Given the description of an element on the screen output the (x, y) to click on. 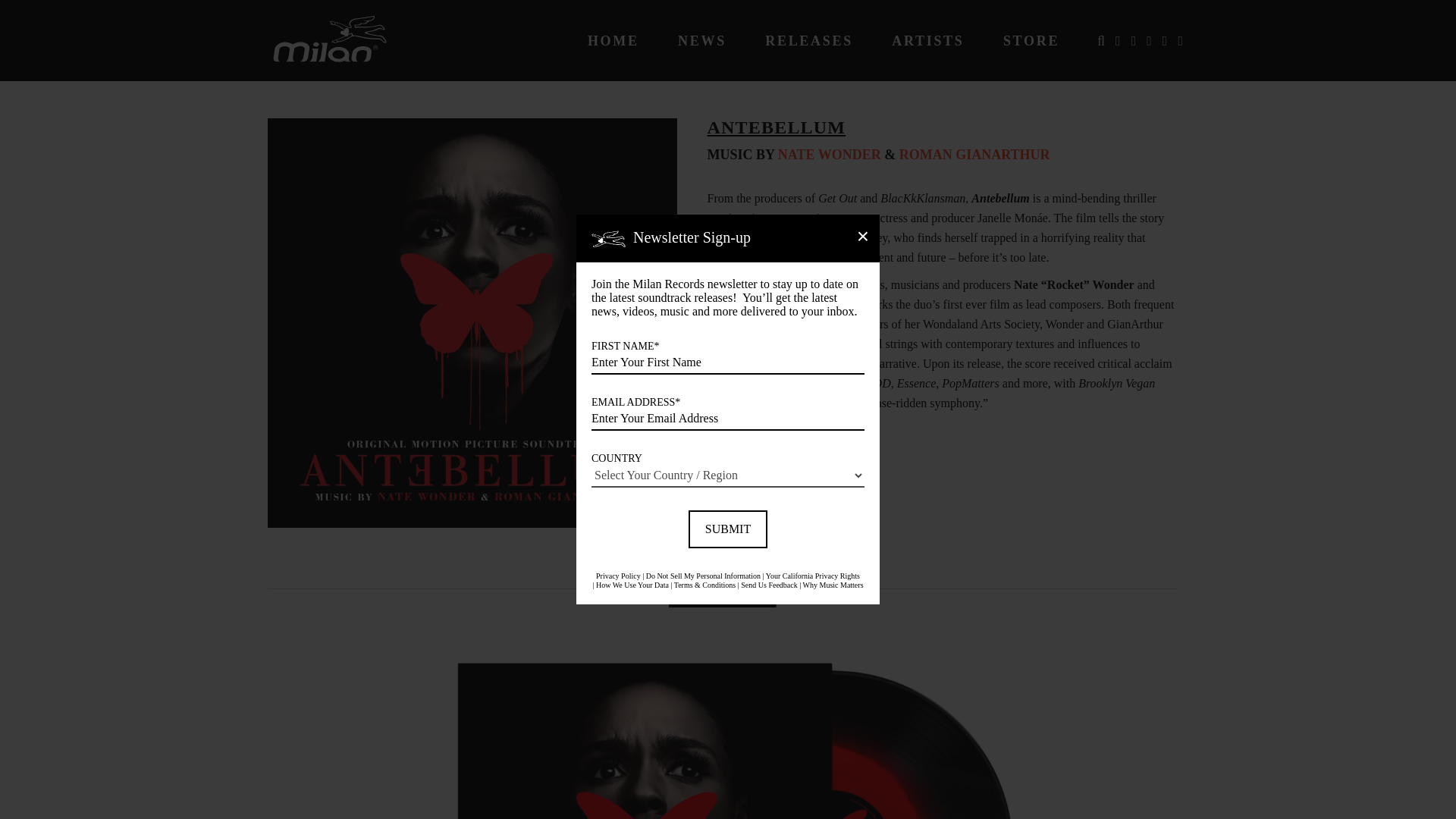
STORE (1031, 40)
How We Use Your Data (631, 584)
SUBMIT (727, 528)
Privacy Policy (617, 575)
Why Music Matters (833, 584)
ARTISTS (927, 40)
ROMAN GIANARTHUR (974, 154)
Your California Privacy Rights (812, 575)
RELEASES (809, 40)
Send Us Feedback (768, 584)
